Given the description of an element on the screen output the (x, y) to click on. 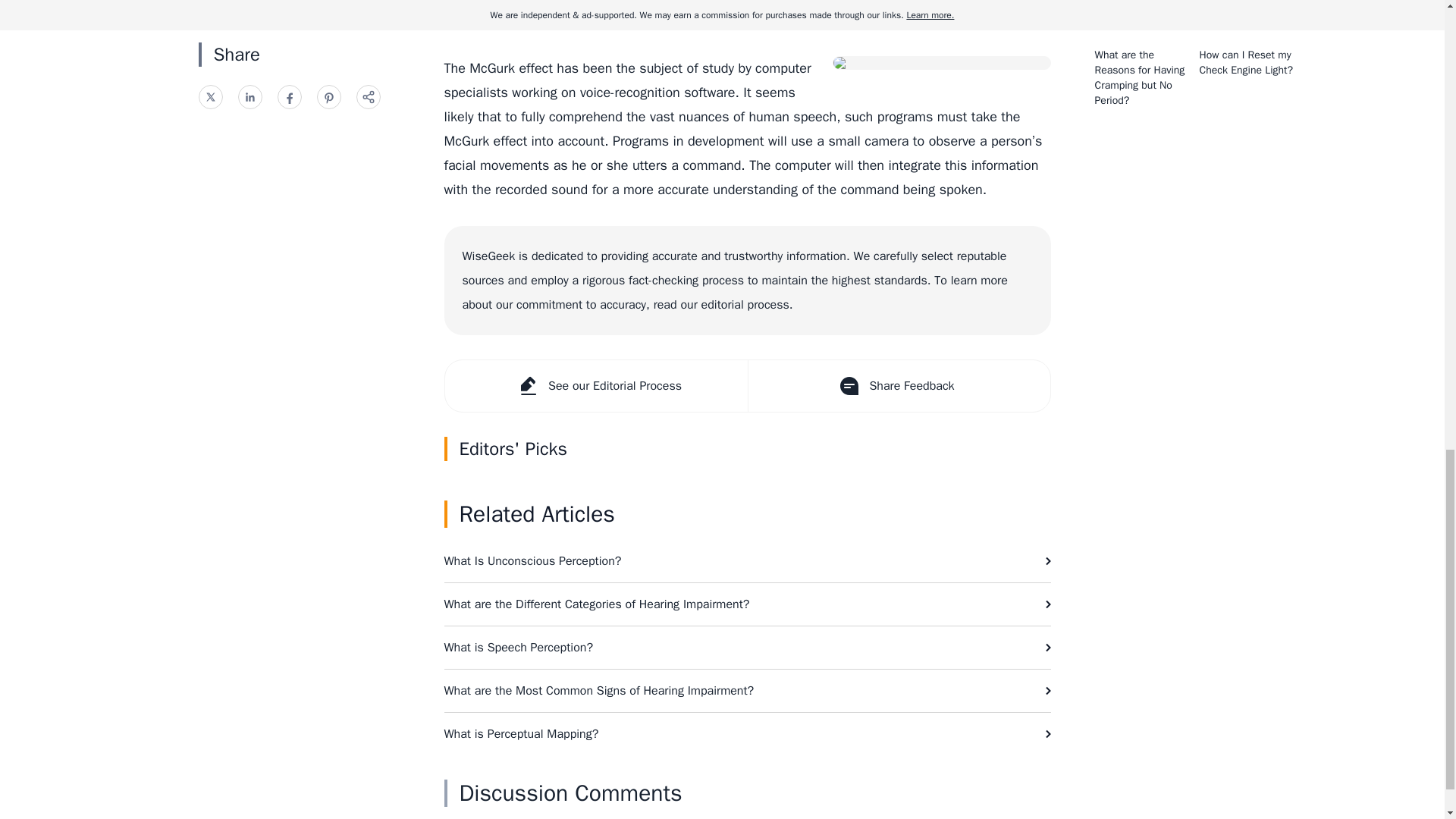
What Is Unconscious Perception? (747, 560)
See our Editorial Process (595, 385)
What are the Different Categories of Hearing Impairment? (747, 604)
What are the Most Common Signs of Hearing Impairment? (747, 690)
What is Speech Perception? (747, 647)
What is Perceptual Mapping? (747, 733)
Share Feedback (898, 385)
